Given the description of an element on the screen output the (x, y) to click on. 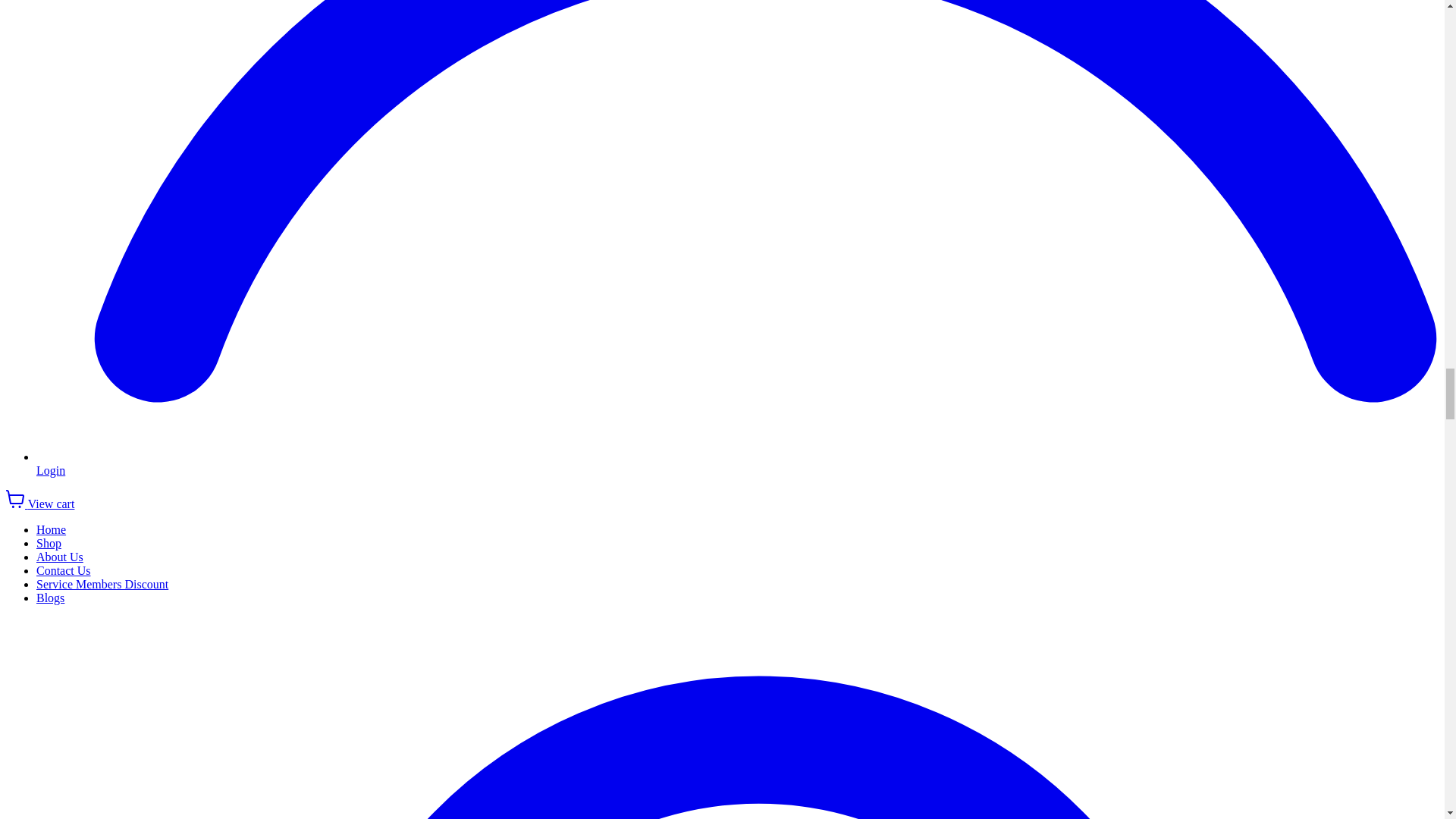
Blogs (50, 597)
Home (50, 529)
Service Members Discount (102, 584)
View cart (39, 503)
About Us (59, 556)
Shop (48, 543)
Contact Us (63, 570)
